Given the description of an element on the screen output the (x, y) to click on. 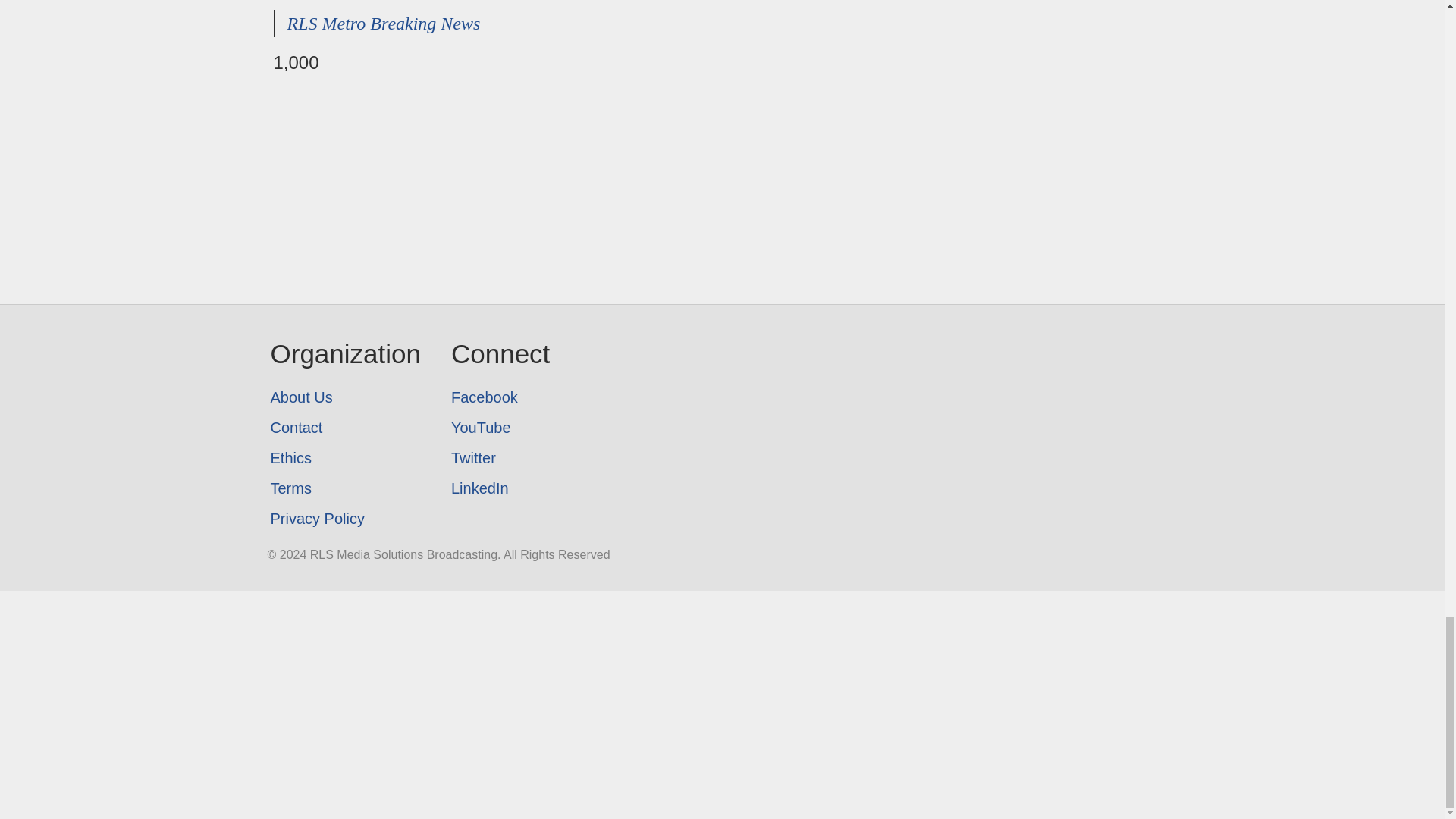
YouTube (500, 427)
Facebook (500, 397)
Terms (344, 488)
Ethics Code (344, 458)
Twitter (500, 458)
Contact (344, 427)
About Us (344, 397)
Privacy Policy (344, 518)
Ethics (344, 458)
RLS Metro Breaking News (383, 23)
LinkedIn (500, 488)
Contact Us (344, 427)
